Given the description of an element on the screen output the (x, y) to click on. 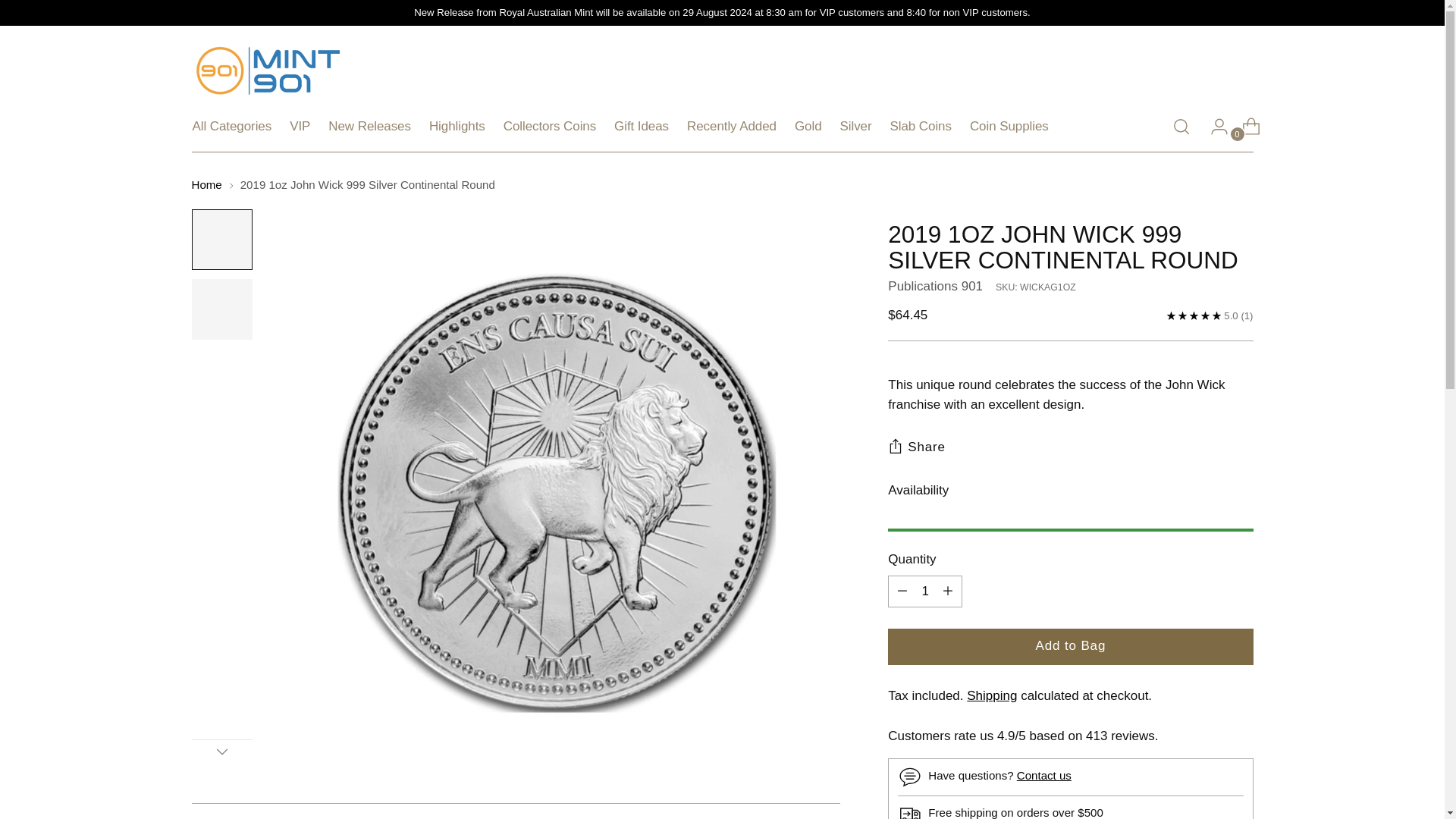
Silver (856, 126)
Publications 901 (935, 286)
All Categories (232, 126)
Recently Added (731, 126)
Contact (1043, 775)
Coin Supplies (1008, 126)
0 (1245, 126)
Slab Coins (920, 126)
New Releases (369, 126)
Down (220, 751)
